Given the description of an element on the screen output the (x, y) to click on. 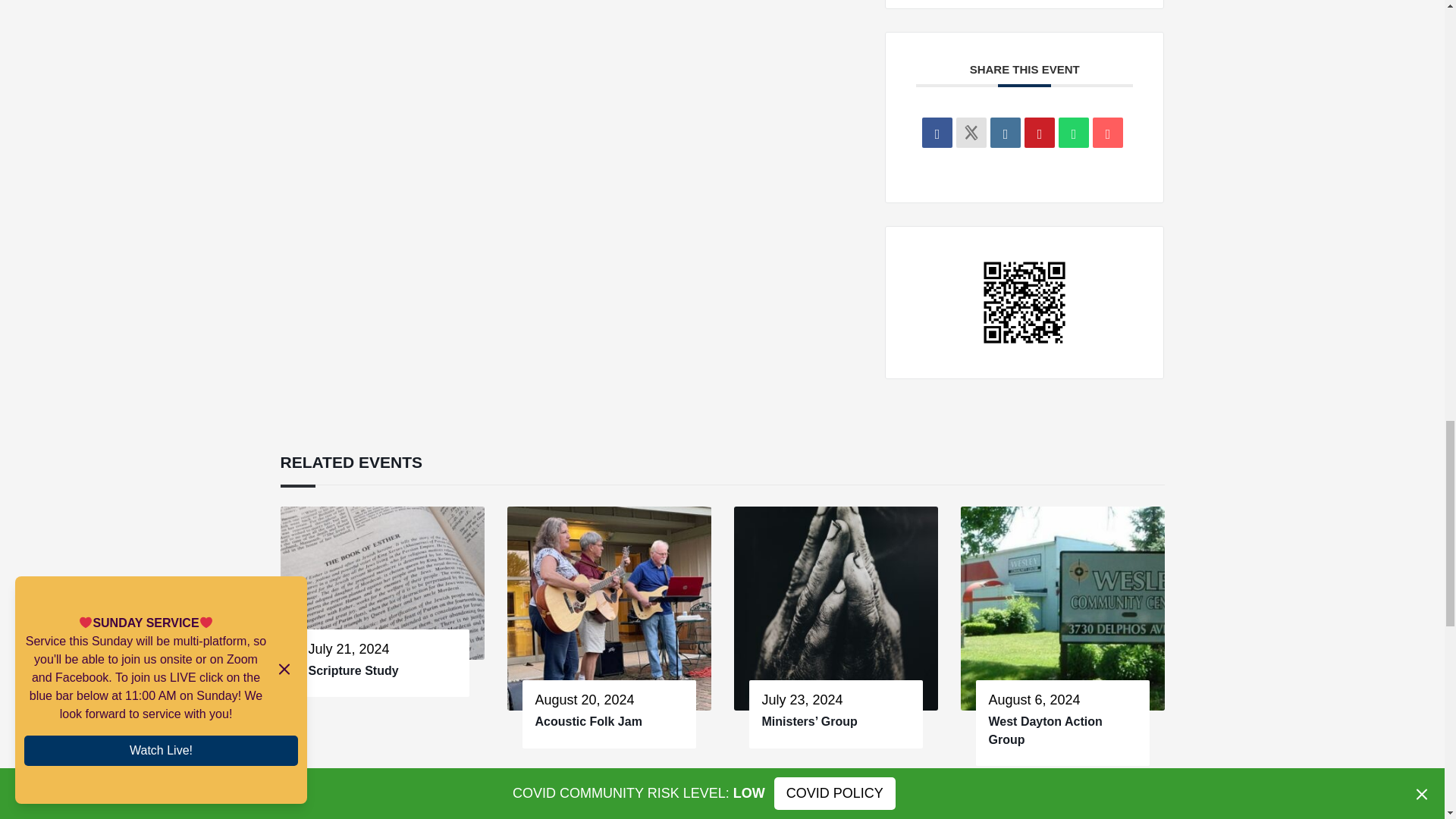
Email (1107, 132)
Linkedin (1005, 132)
Share on Pinterest (1039, 132)
Share on WhatsApp (1073, 132)
X Social Network (971, 132)
Share on Facebook (936, 132)
